Given the description of an element on the screen output the (x, y) to click on. 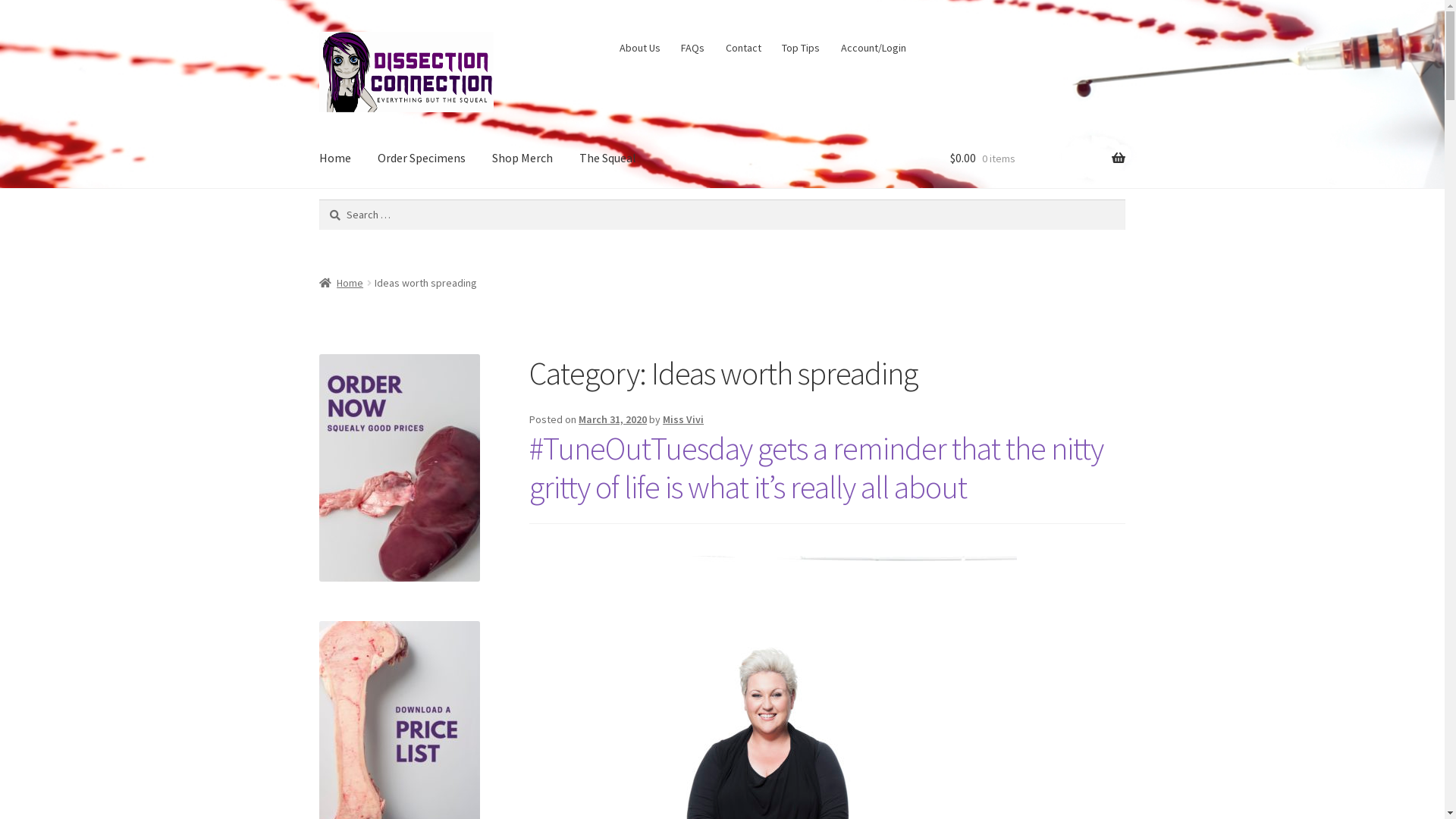
Order Specimens Element type: text (421, 158)
Shop Merch Element type: text (522, 158)
Top Tips Element type: text (800, 47)
Home Element type: text (341, 282)
The Squeal Element type: text (607, 158)
$0.00 0 items Element type: text (1037, 158)
Skip to navigation Element type: text (318, 31)
FAQs Element type: text (692, 47)
March 31, 2020 Element type: text (612, 419)
About Us Element type: text (639, 47)
Miss Vivi Element type: text (682, 419)
Contact Element type: text (742, 47)
Account/Login Element type: text (873, 47)
Search Element type: text (318, 198)
Home Element type: text (335, 158)
